Given the description of an element on the screen output the (x, y) to click on. 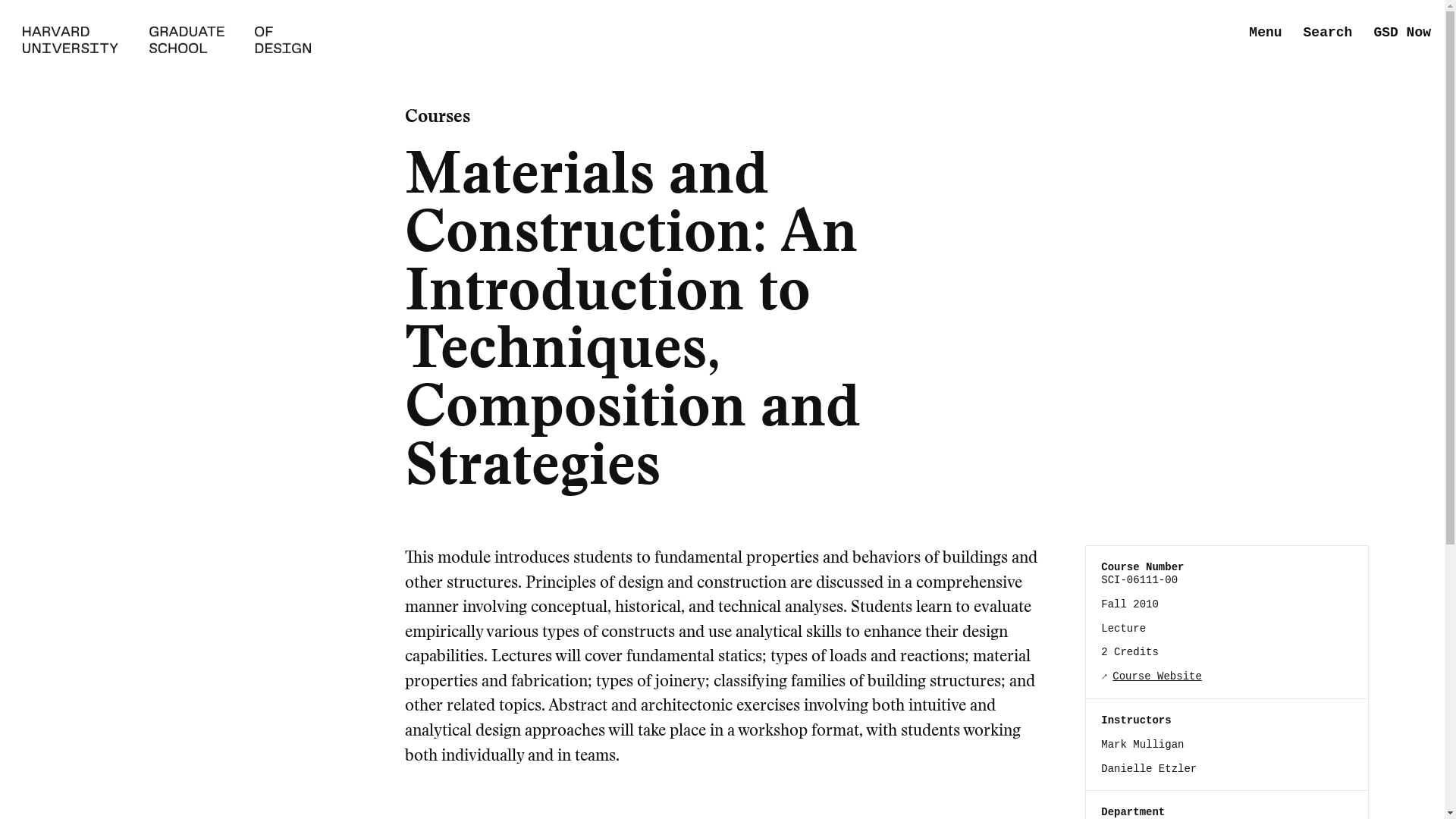
Menu (1265, 32)
Search (1327, 32)
GSD Now (1402, 32)
